Given the description of an element on the screen output the (x, y) to click on. 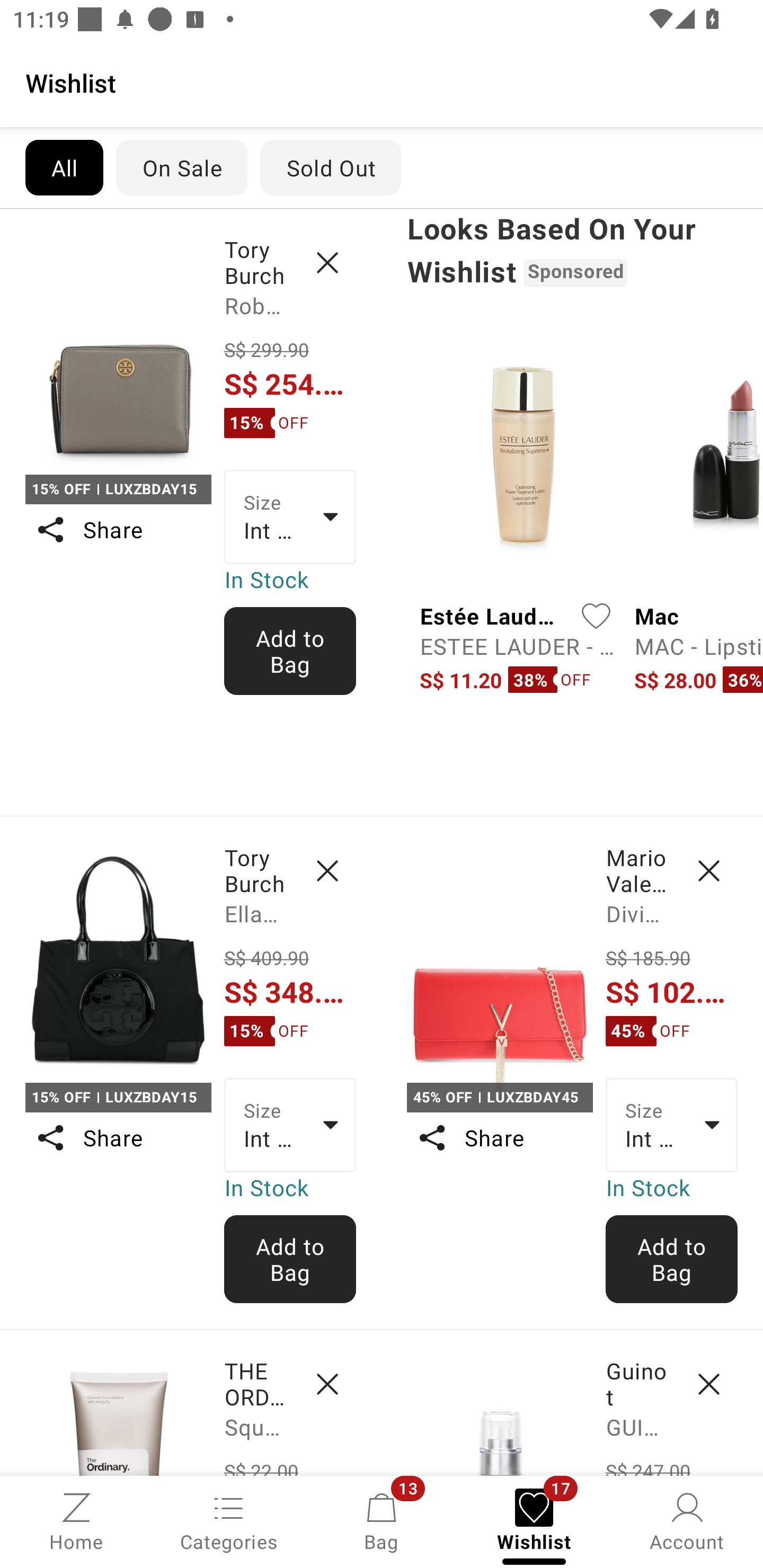
Wishlist (381, 82)
All (64, 167)
On Sale (181, 167)
Sold Out (330, 167)
Size Int One Size (290, 517)
Share (118, 529)
Add to Bag (290, 650)
Size Int One Size (290, 1125)
Size Int One Size (671, 1125)
Share (118, 1137)
Share (499, 1137)
Add to Bag (290, 1259)
Add to Bag (671, 1259)
Home (76, 1519)
Categories (228, 1519)
Bag, 13 new notifications Bag (381, 1519)
Account (686, 1519)
